Given the description of an element on the screen output the (x, y) to click on. 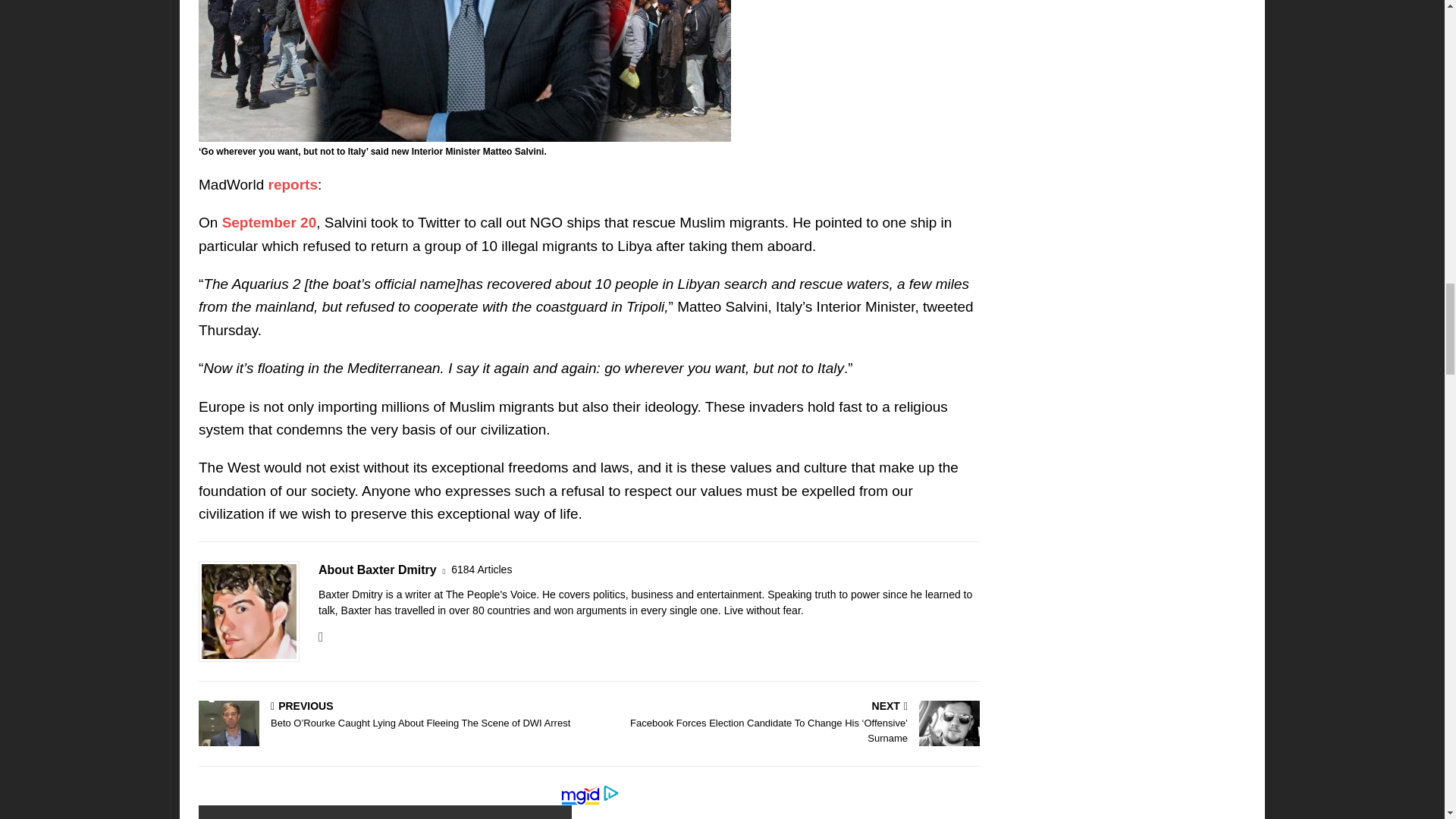
More articles written by Baxter Dmitry' (481, 569)
